Given the description of an element on the screen output the (x, y) to click on. 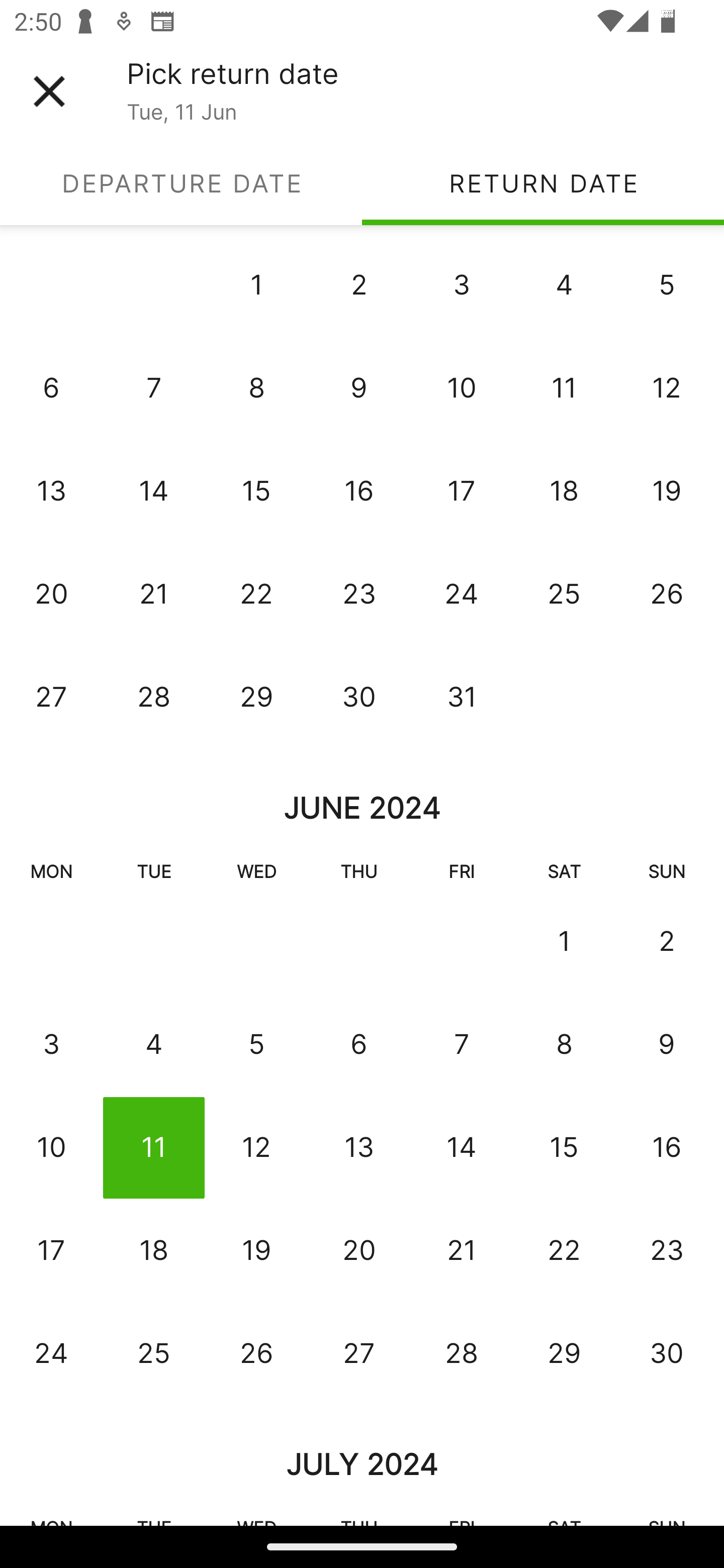
Departure Date DEPARTURE DATE (181, 183)
